Given the description of an element on the screen output the (x, y) to click on. 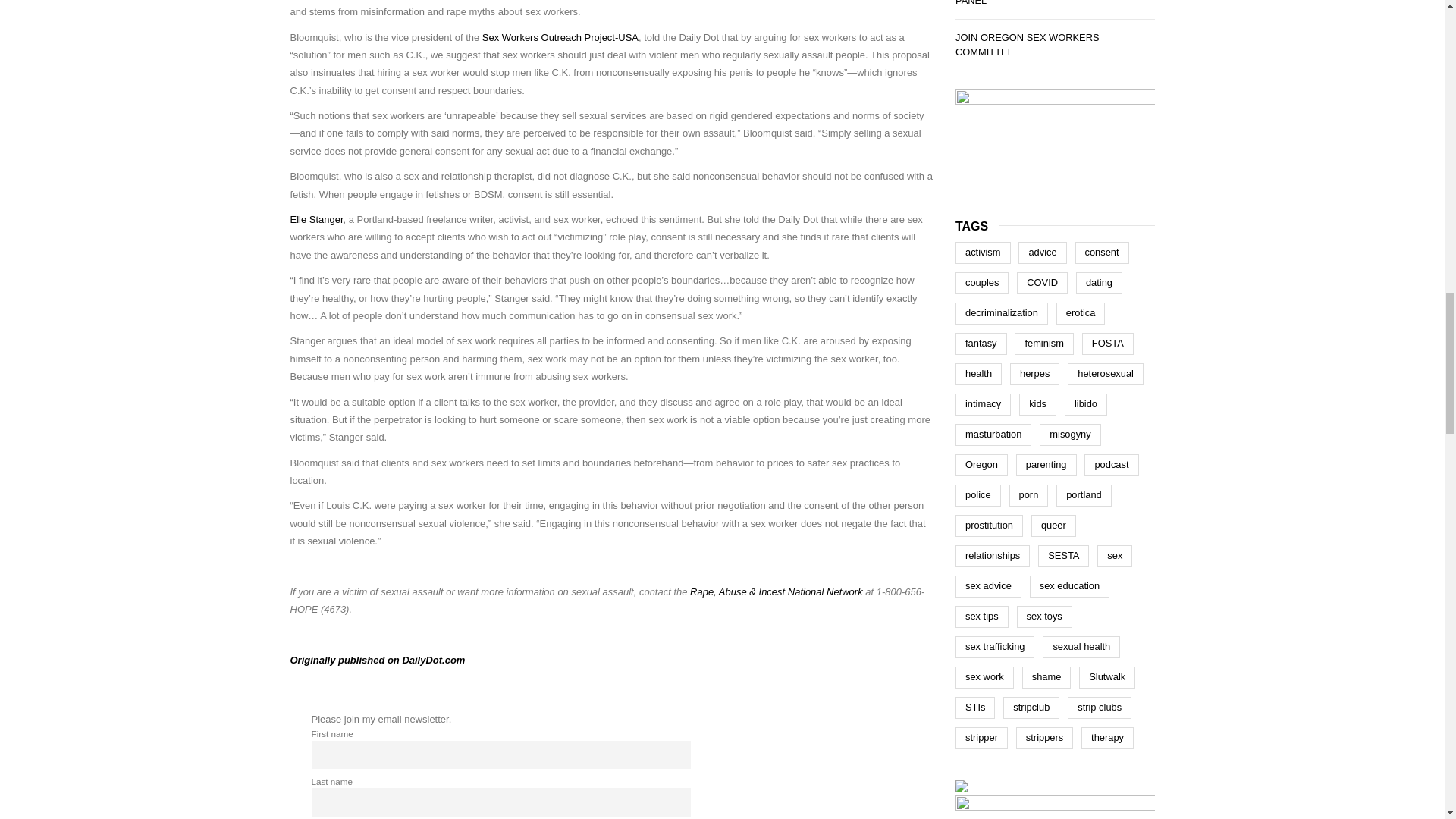
Elle Stanger (315, 219)
Originally published on DailyDot.com (376, 659)
Sex Workers Outreach Project-USA (560, 37)
